Given the description of an element on the screen output the (x, y) to click on. 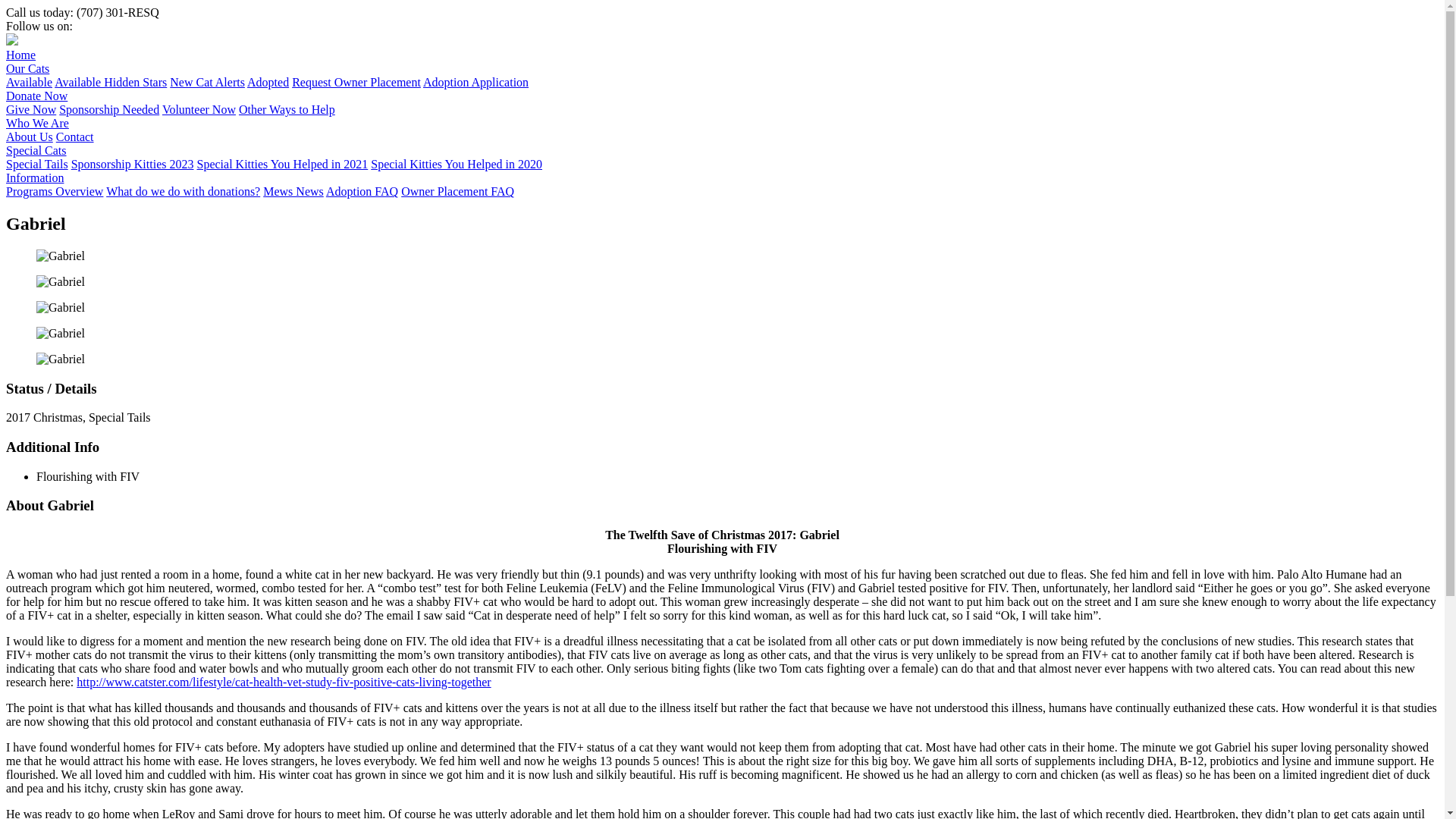
Special Tails (36, 164)
Donate Now (35, 95)
Owner Placement FAQ (457, 191)
Home (19, 54)
Sponsorship Needed (108, 109)
Mews News (293, 191)
Our Cats (27, 68)
Contact (75, 136)
Special Cats (35, 150)
Adoption Application (475, 82)
